Given the description of an element on the screen output the (x, y) to click on. 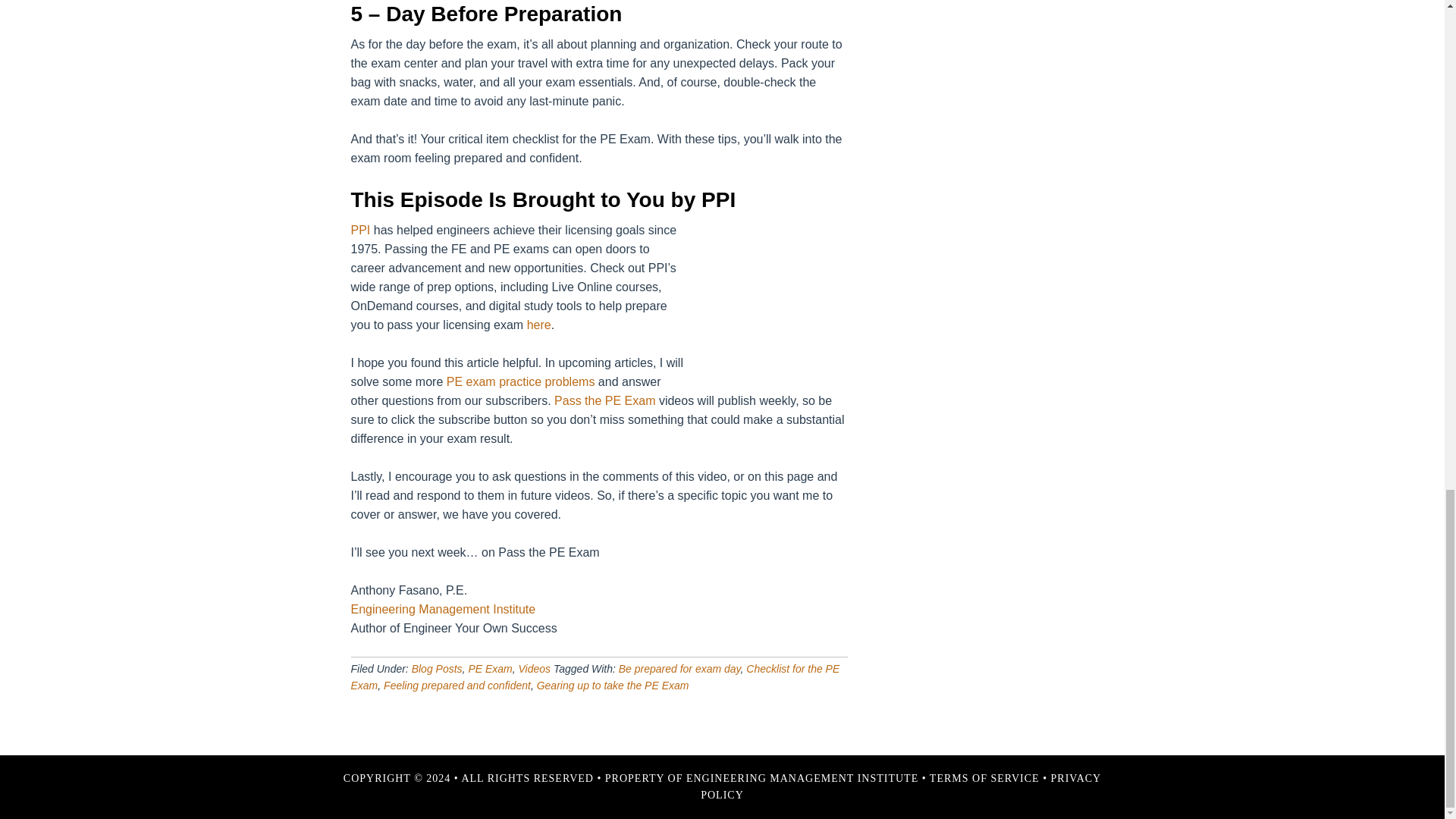
TERMS OF SERVICE (984, 778)
ENGINEERING MANAGEMENT INSTITUTE (801, 778)
PE Exam (489, 668)
here (539, 324)
PE exam practice problems (520, 381)
PPI (359, 229)
Videos (534, 668)
Pass the PE Exam (604, 400)
Feeling prepared and confident (457, 685)
Engineering Management Institute (442, 608)
